Given the description of an element on the screen output the (x, y) to click on. 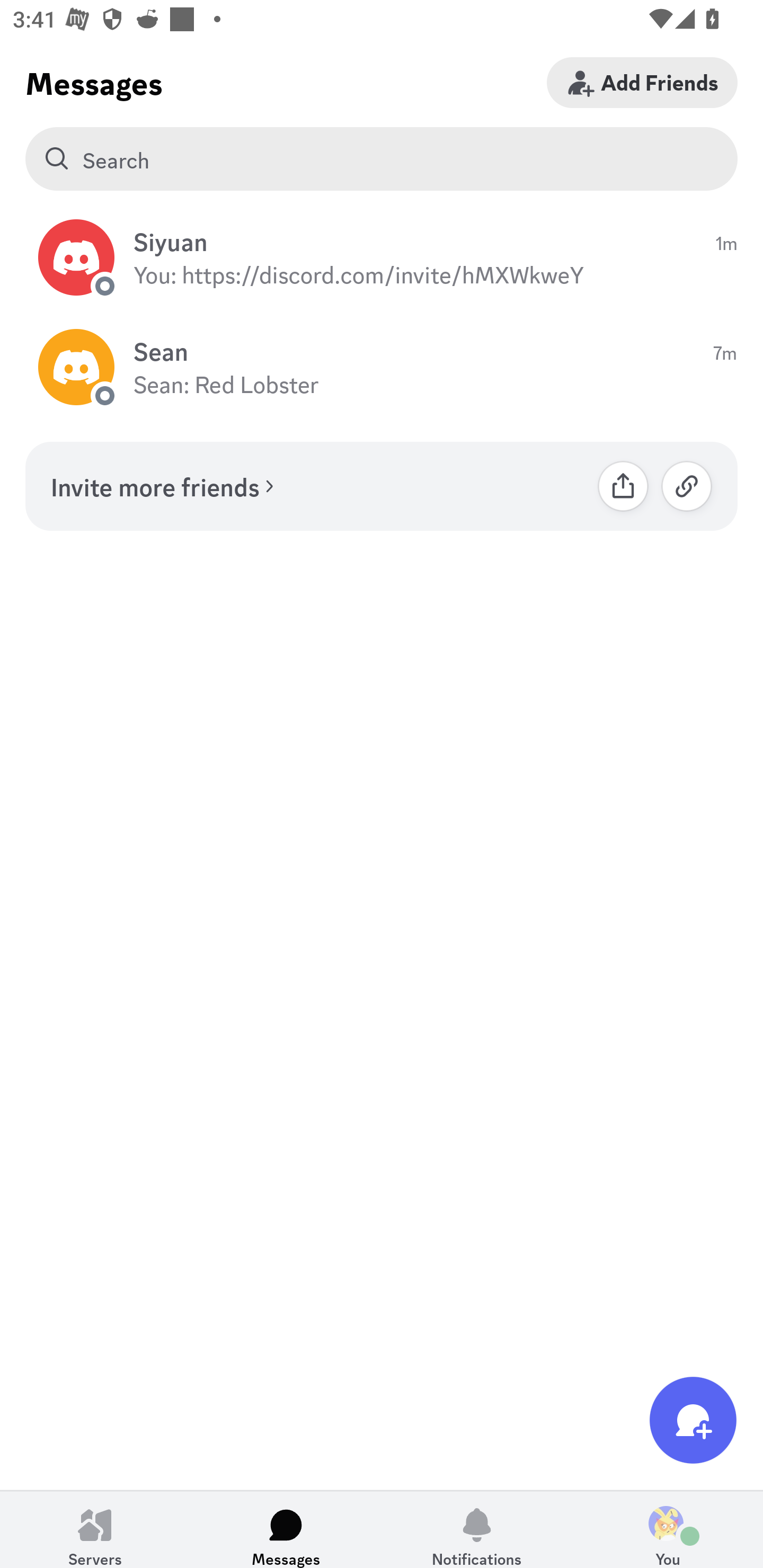
Add Friends (642, 82)
Search (381, 159)
Sean (direct message) Sean 7m Sean: Red Lobster (381, 367)
Share Link (622, 485)
Copy Link (686, 485)
New Message (692, 1419)
Servers (95, 1529)
Messages (285, 1529)
Notifications (476, 1529)
You (667, 1529)
